Given the description of an element on the screen output the (x, y) to click on. 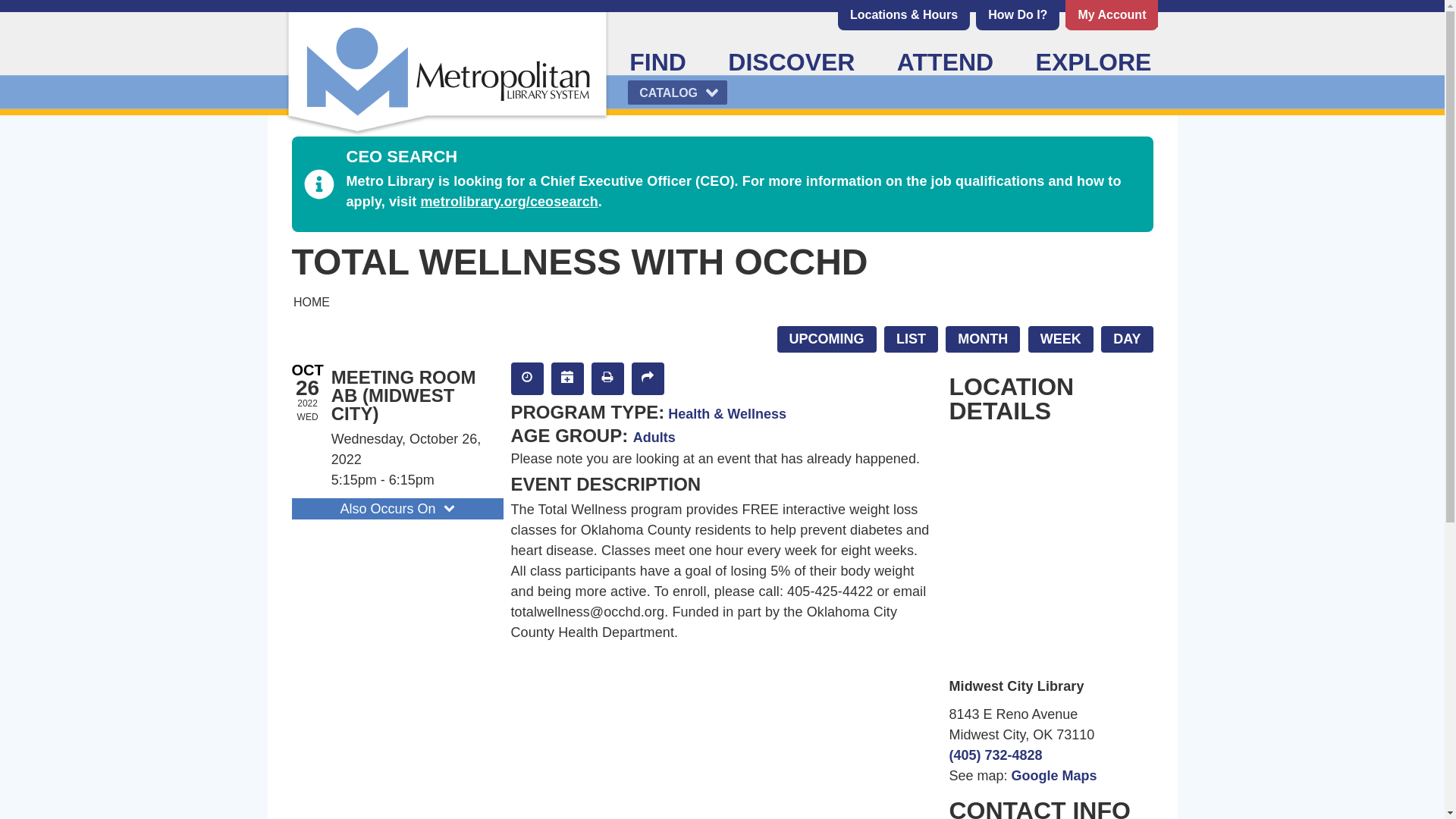
Remind Me (527, 378)
My Account (1111, 14)
Add To My Calendar (566, 378)
Share this event (646, 378)
How Do I? (1017, 14)
Print this event (607, 378)
